Given the description of an element on the screen output the (x, y) to click on. 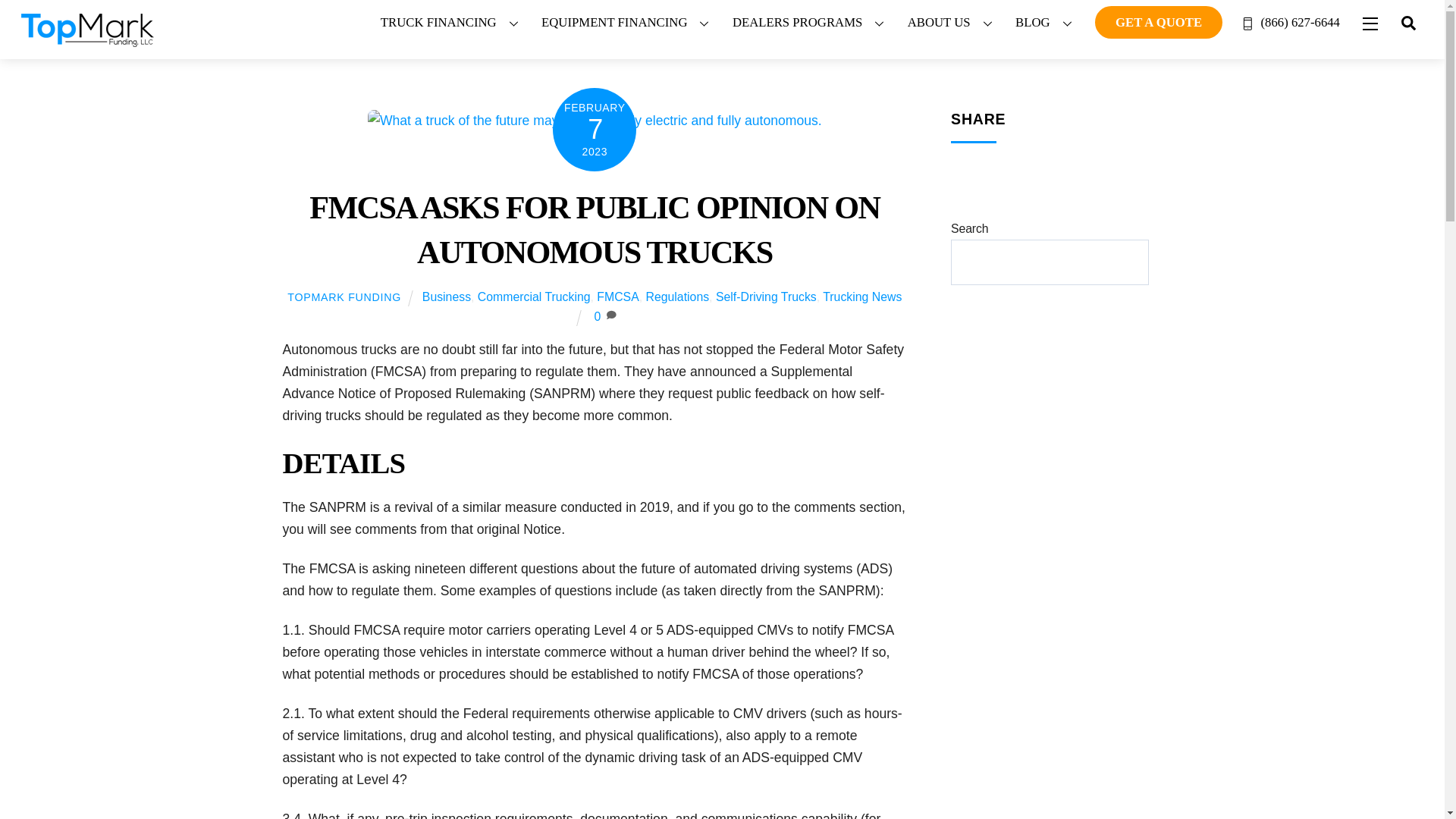
TopMark Funding (87, 40)
TRUCK FINANCING (451, 22)
SEARCH (1408, 21)
